Given the description of an element on the screen output the (x, y) to click on. 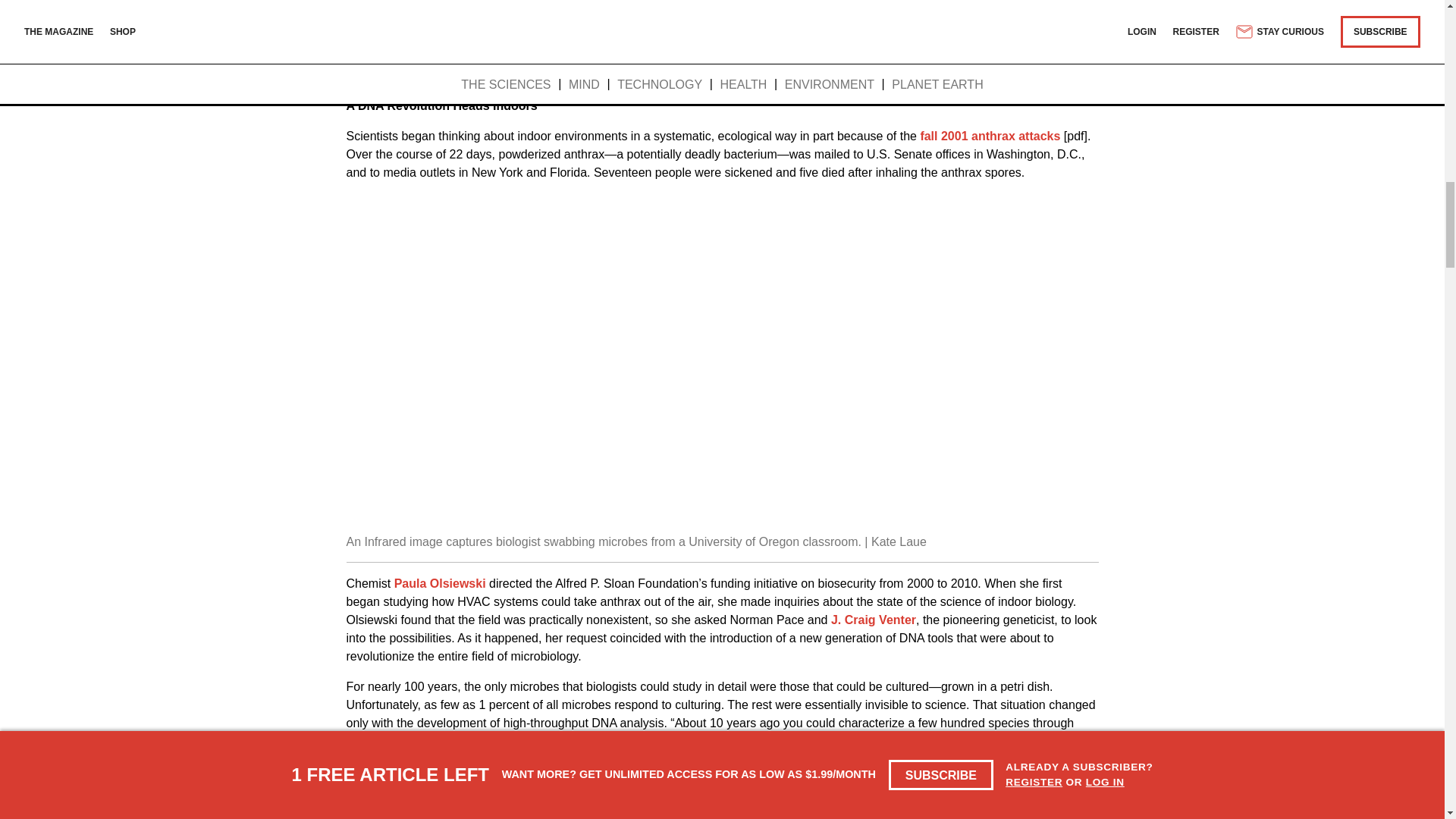
Jonathan Eisen (520, 740)
J. Craig Venter (873, 619)
Paula Olsiewski (440, 583)
fall 2001 anthrax attacks (989, 135)
